Given the description of an element on the screen output the (x, y) to click on. 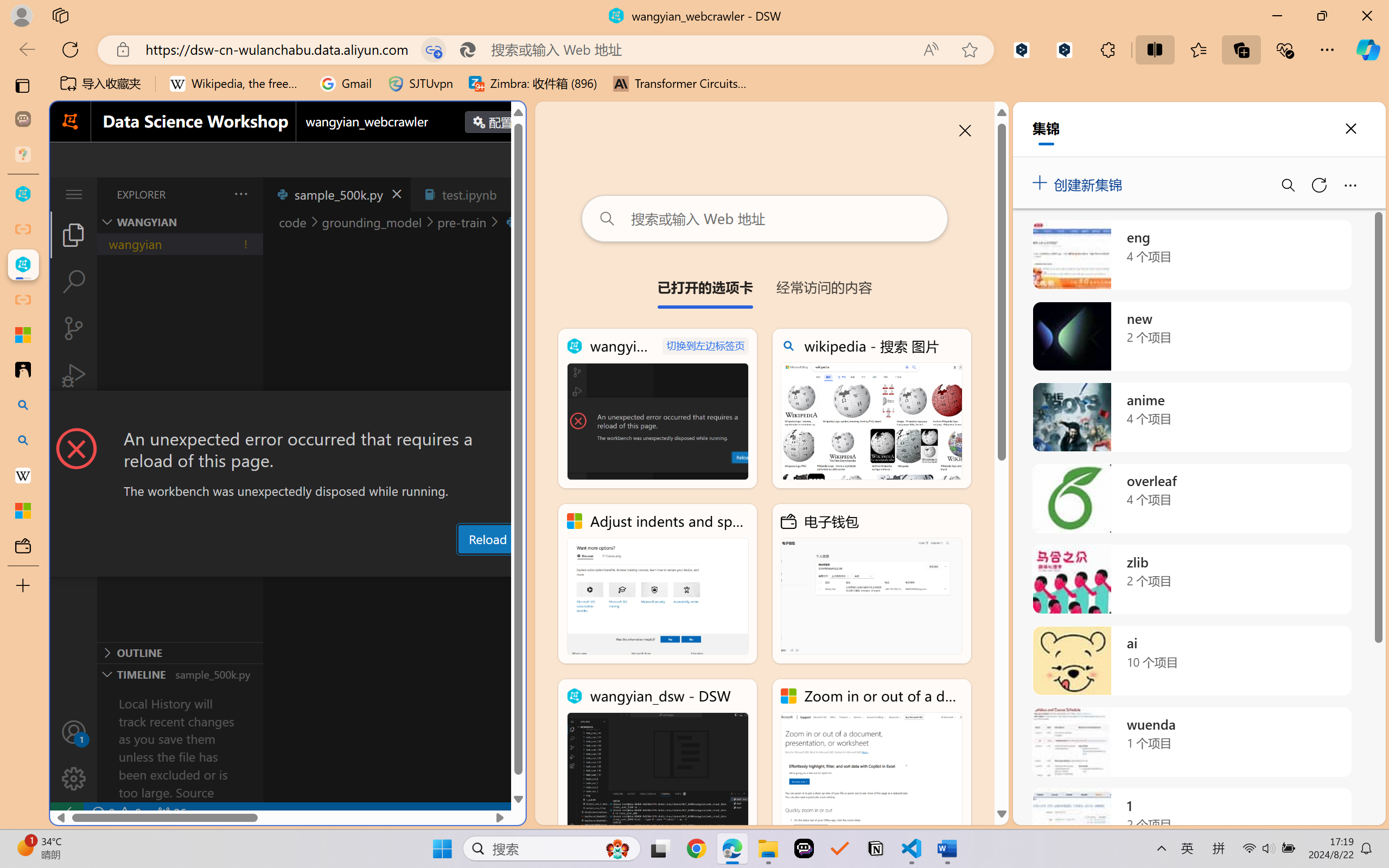
test.ipynb (468, 194)
SJTUvpn (419, 83)
Manage (73, 755)
Views and More Actions... (240, 193)
